Given the description of an element on the screen output the (x, y) to click on. 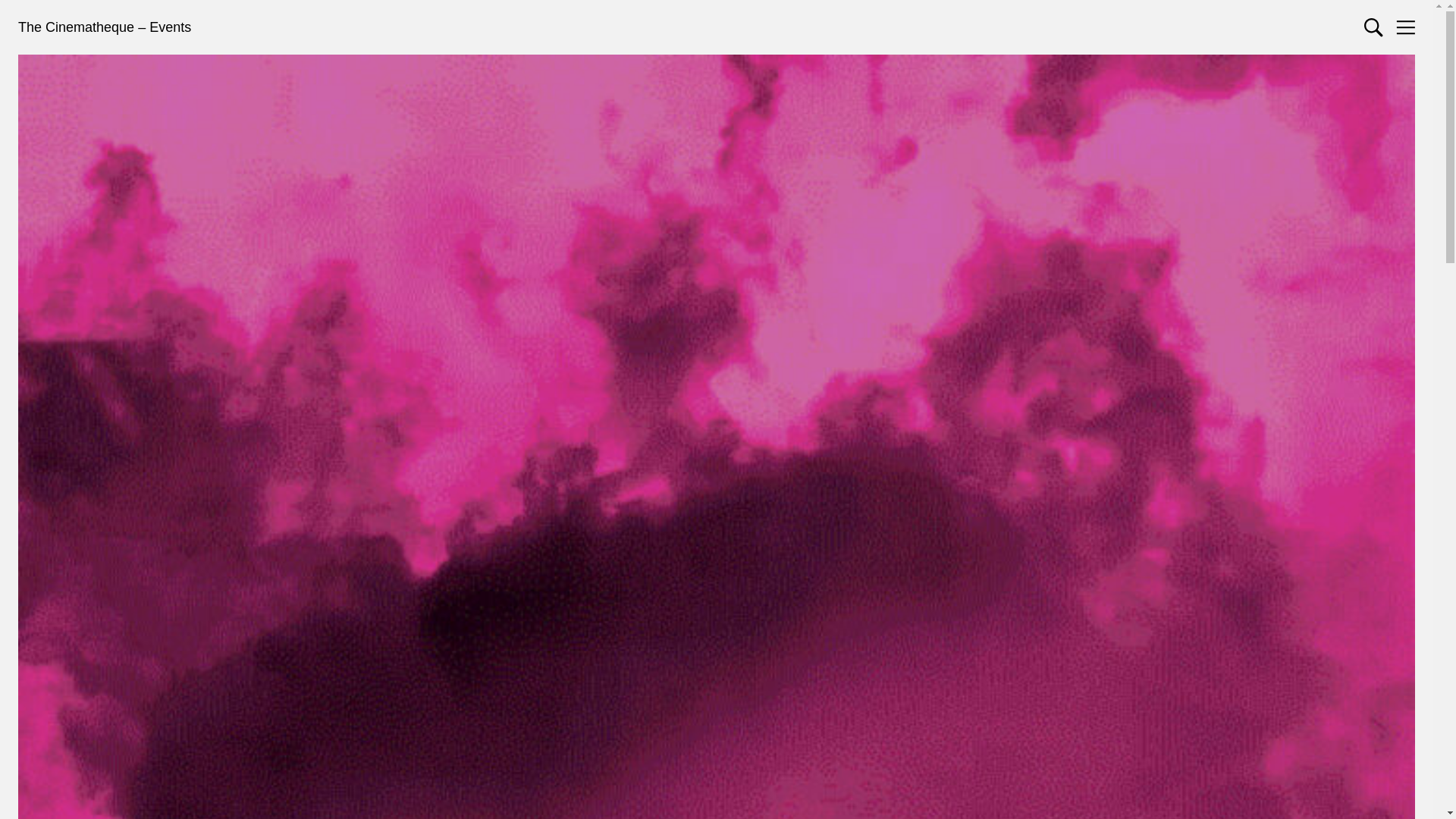
The Cinematheque (75, 27)
Search (1373, 27)
Nav (1405, 27)
Events (169, 27)
